Given the description of an element on the screen output the (x, y) to click on. 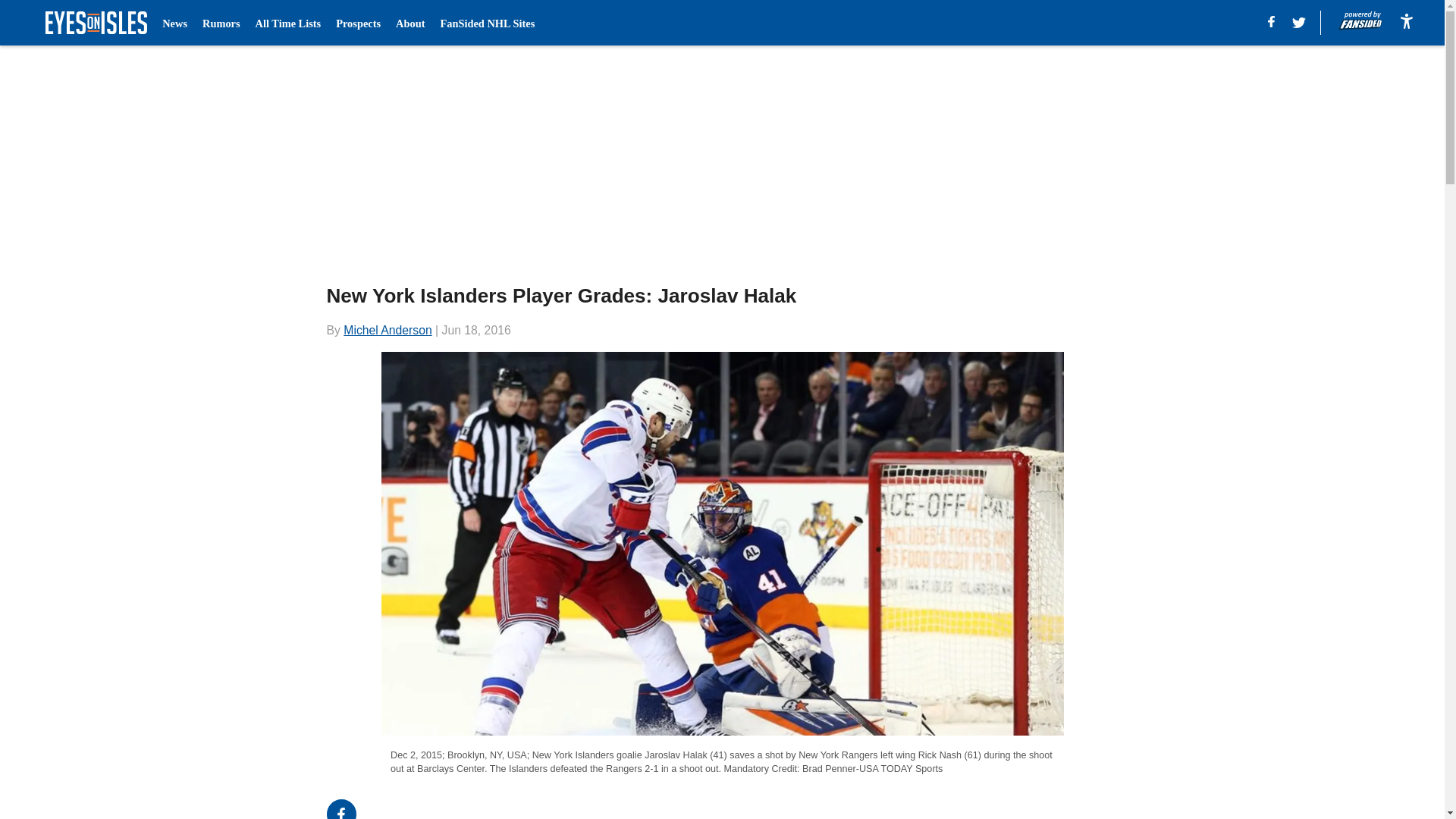
Rumors (221, 23)
All Time Lists (288, 23)
Michel Anderson (386, 329)
Prospects (358, 23)
About (410, 23)
FanSided NHL Sites (486, 23)
News (174, 23)
